Given the description of an element on the screen output the (x, y) to click on. 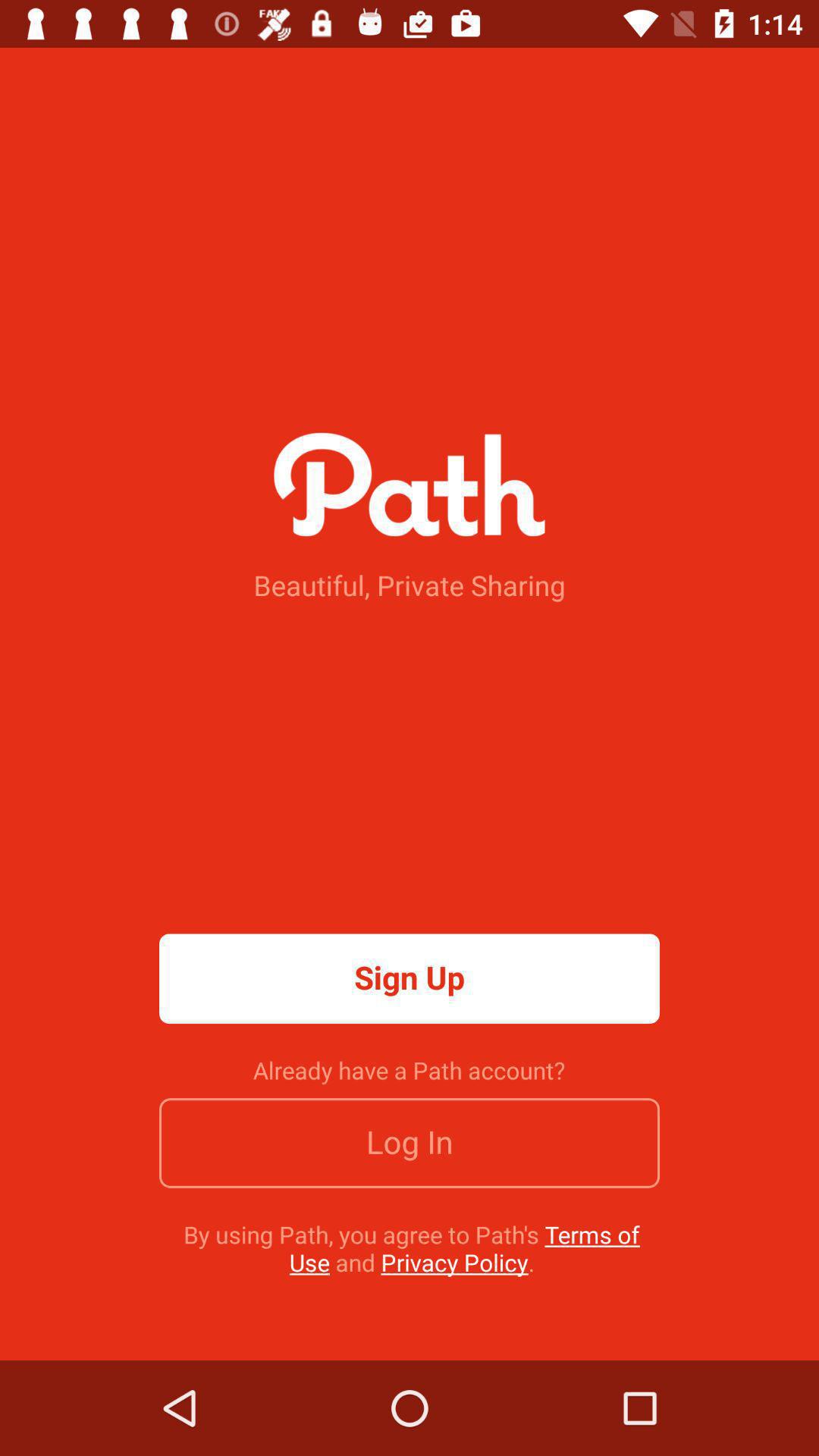
swipe to the sign up (409, 978)
